Given the description of an element on the screen output the (x, y) to click on. 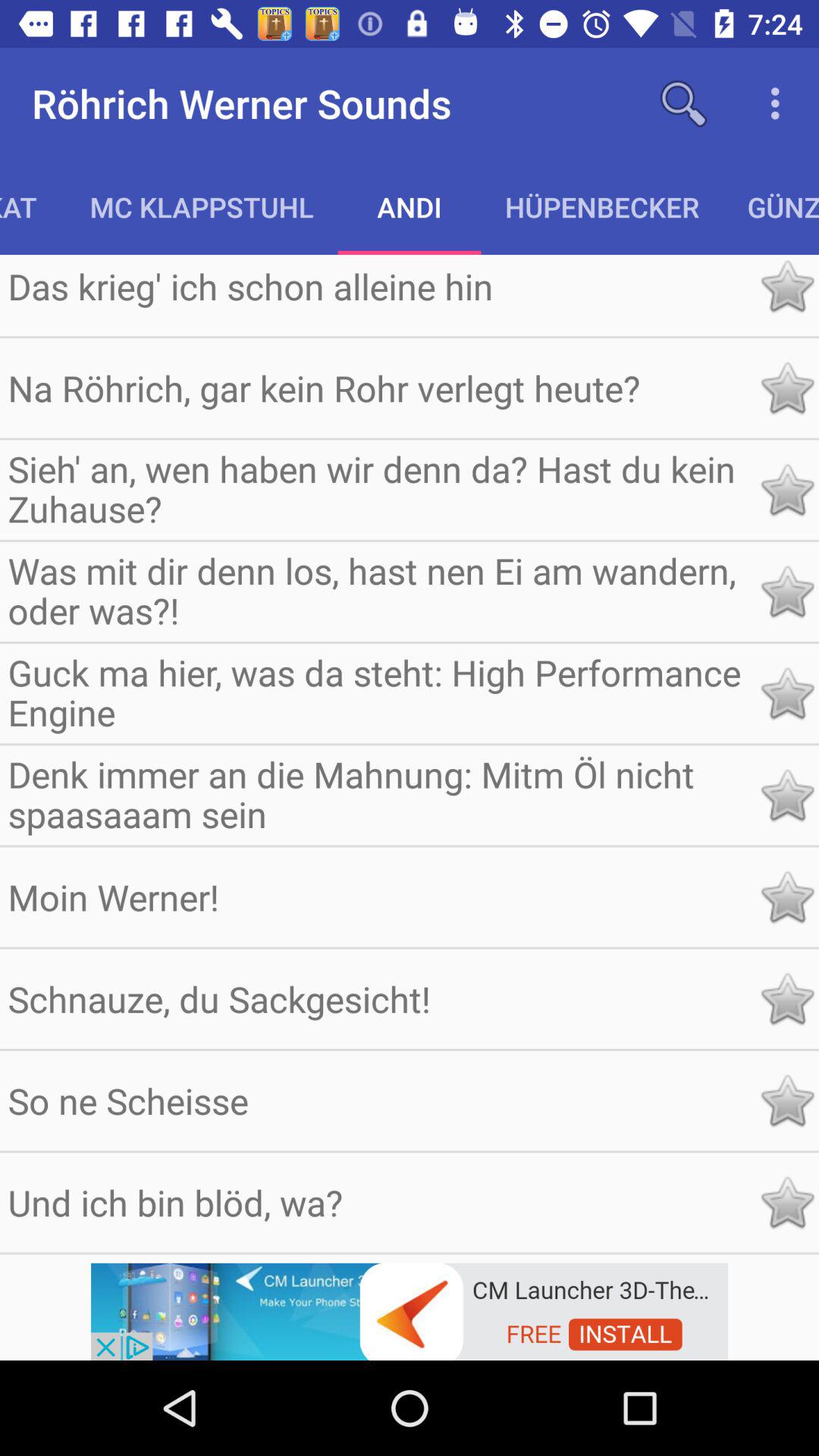
select advertisement (409, 1310)
